Given the description of an element on the screen output the (x, y) to click on. 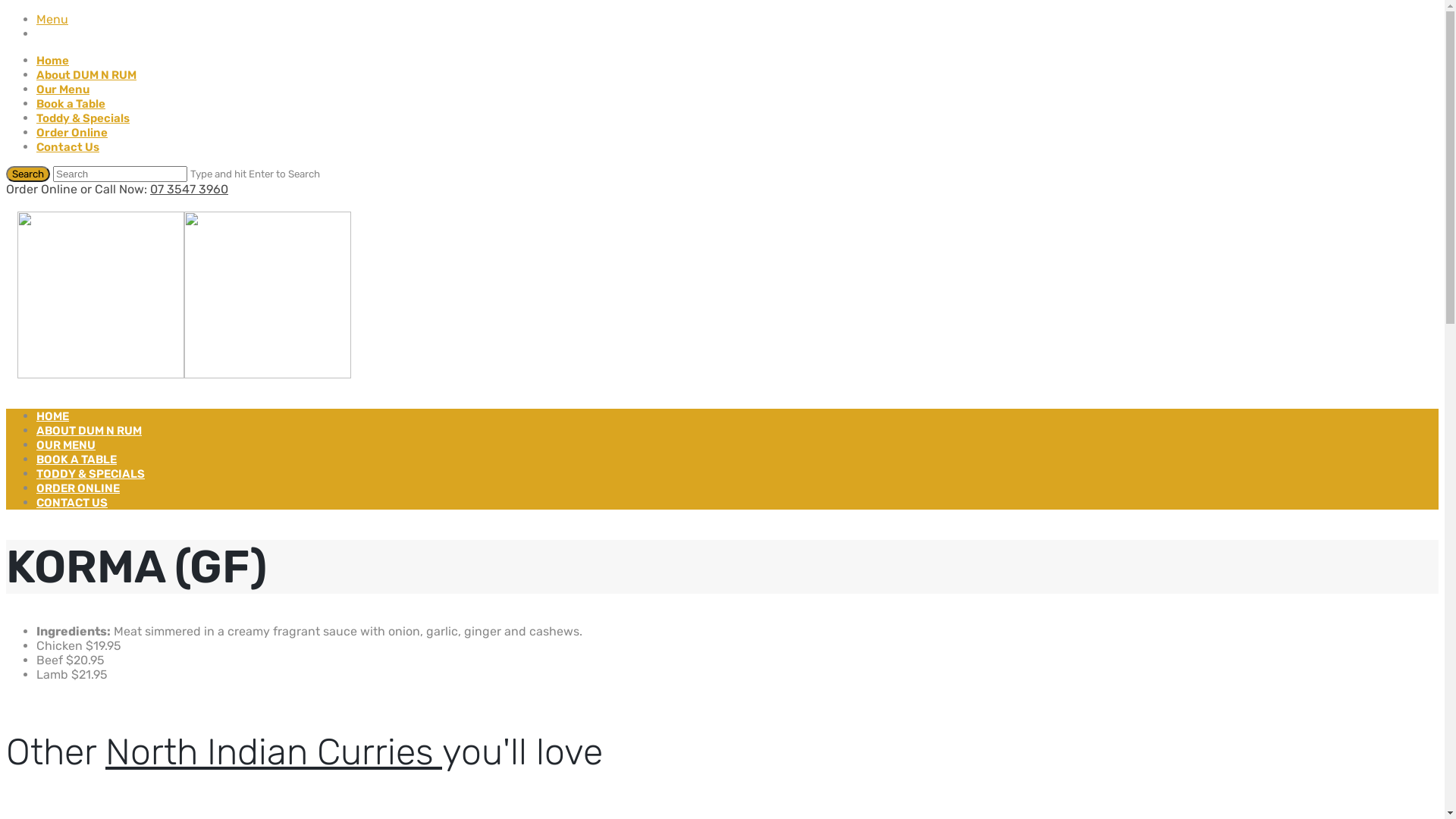
Our Menu Element type: text (62, 89)
CONTACT US Element type: text (71, 502)
Book a Table Element type: text (70, 103)
Search Element type: text (28, 174)
About DUM N RUM Element type: text (86, 74)
BOOK A TABLE Element type: text (76, 459)
North Indian Curries Element type: text (273, 751)
07 3547 3960 Element type: text (189, 189)
OUR MENU Element type: text (65, 444)
ABOUT DUM N RUM Element type: text (88, 430)
HOME Element type: text (52, 416)
ORDER ONLINE Element type: text (77, 488)
TODDY & SPECIALS Element type: text (90, 473)
Toddy & Specials Element type: text (82, 118)
Contact Us Element type: text (67, 146)
Order Online Element type: text (71, 132)
Home Element type: text (52, 60)
Menu Element type: text (52, 19)
